Given the description of an element on the screen output the (x, y) to click on. 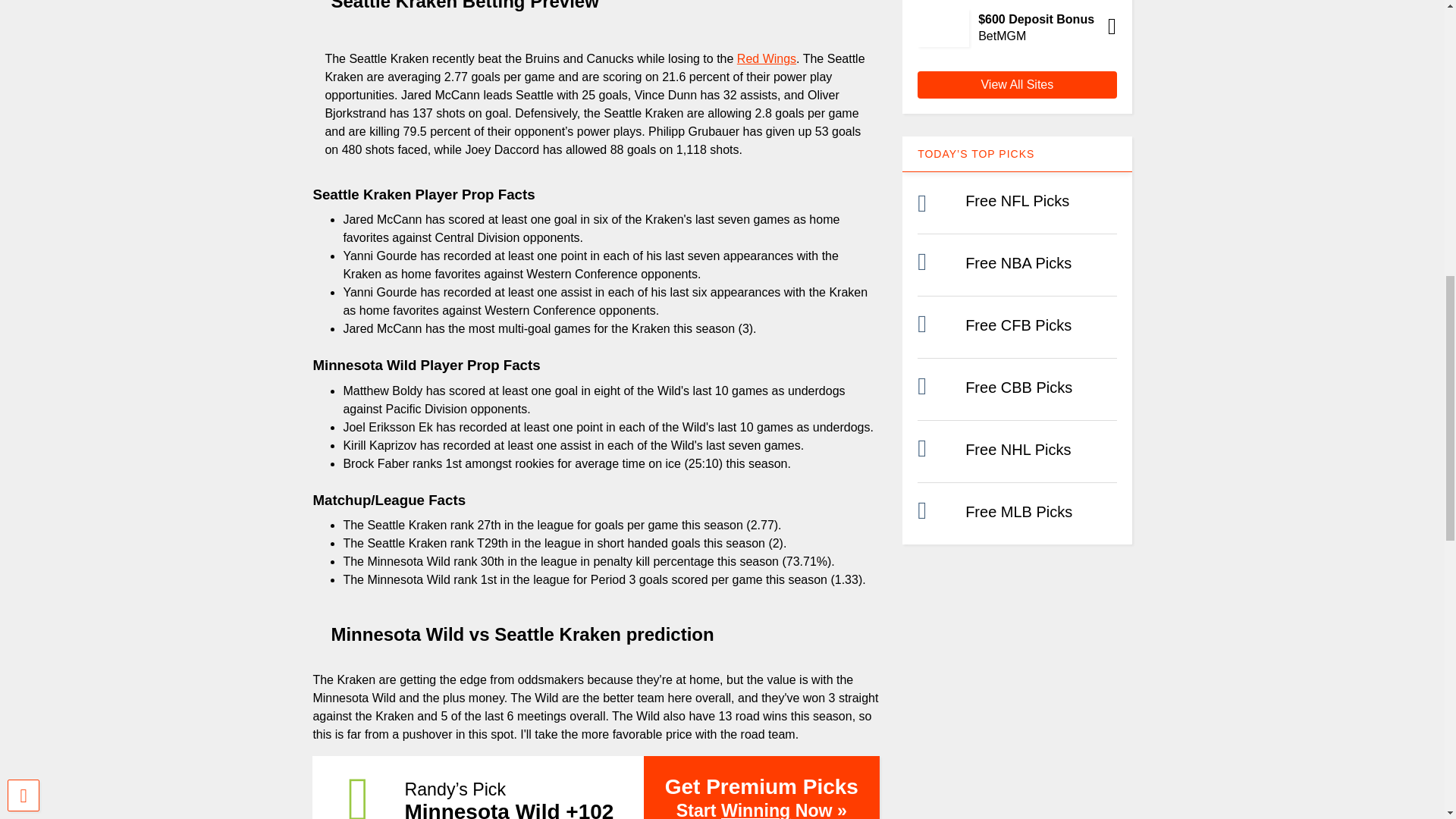
Free CBB Picks (1018, 387)
Free CFB Picks (1018, 324)
Free NBA Picks (1018, 262)
Free MLB Picks (1018, 511)
Free NFL Picks (1016, 200)
Free NHL Picks (1017, 449)
